Given the description of an element on the screen output the (x, y) to click on. 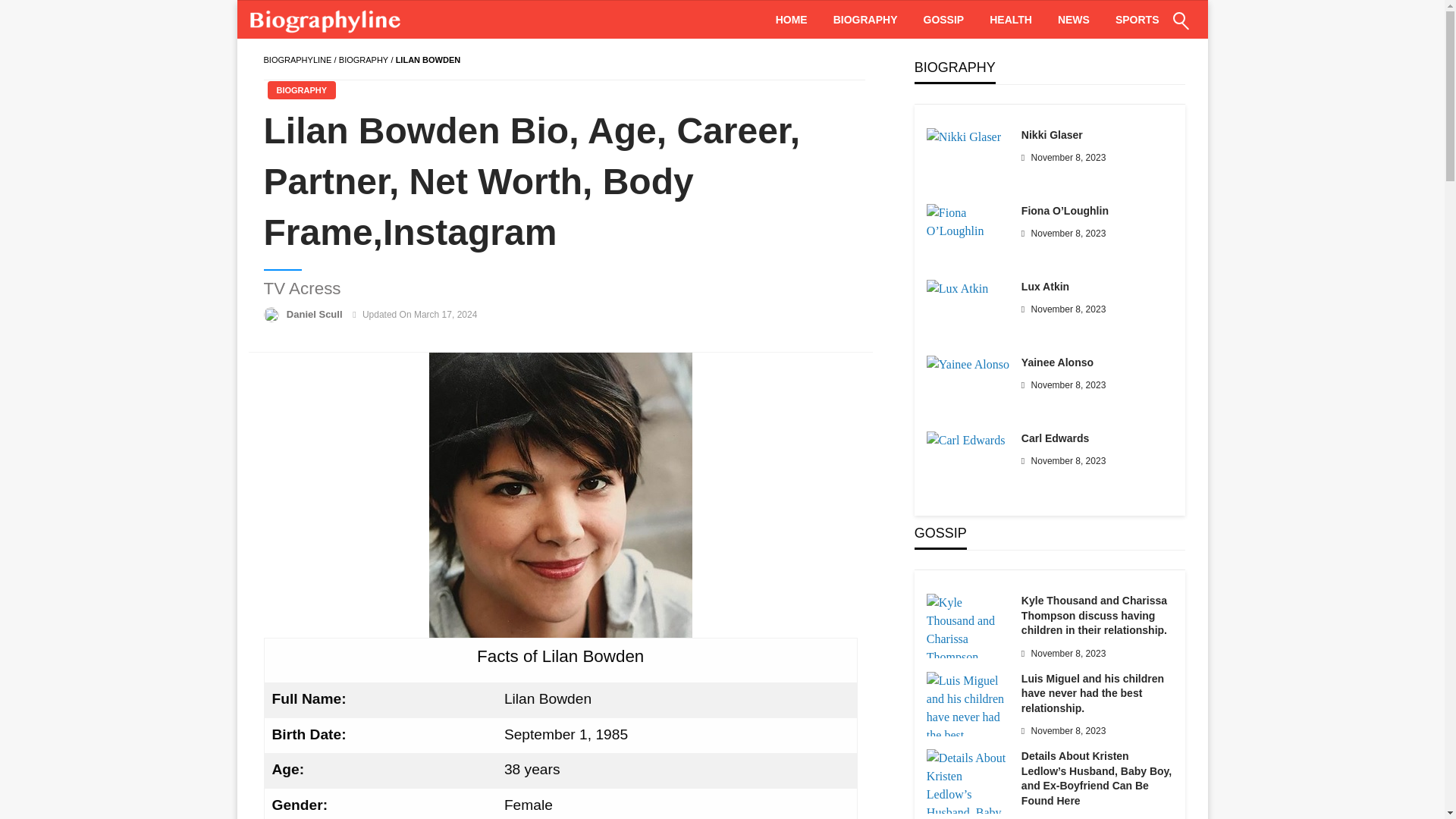
Search (1144, 30)
Lilan Bowden (428, 59)
SPORTS (1137, 19)
NEWS (1073, 19)
Daniel Scull (315, 314)
HEALTH (1010, 19)
Biographyline (297, 59)
Lilan Bowden (561, 495)
Biography (363, 59)
HOME (791, 19)
GOSSIP (943, 19)
BIOGRAPHY (301, 90)
Biography Line (327, 19)
BIOGRAPHY (363, 59)
Daniel Scull (315, 314)
